Given the description of an element on the screen output the (x, y) to click on. 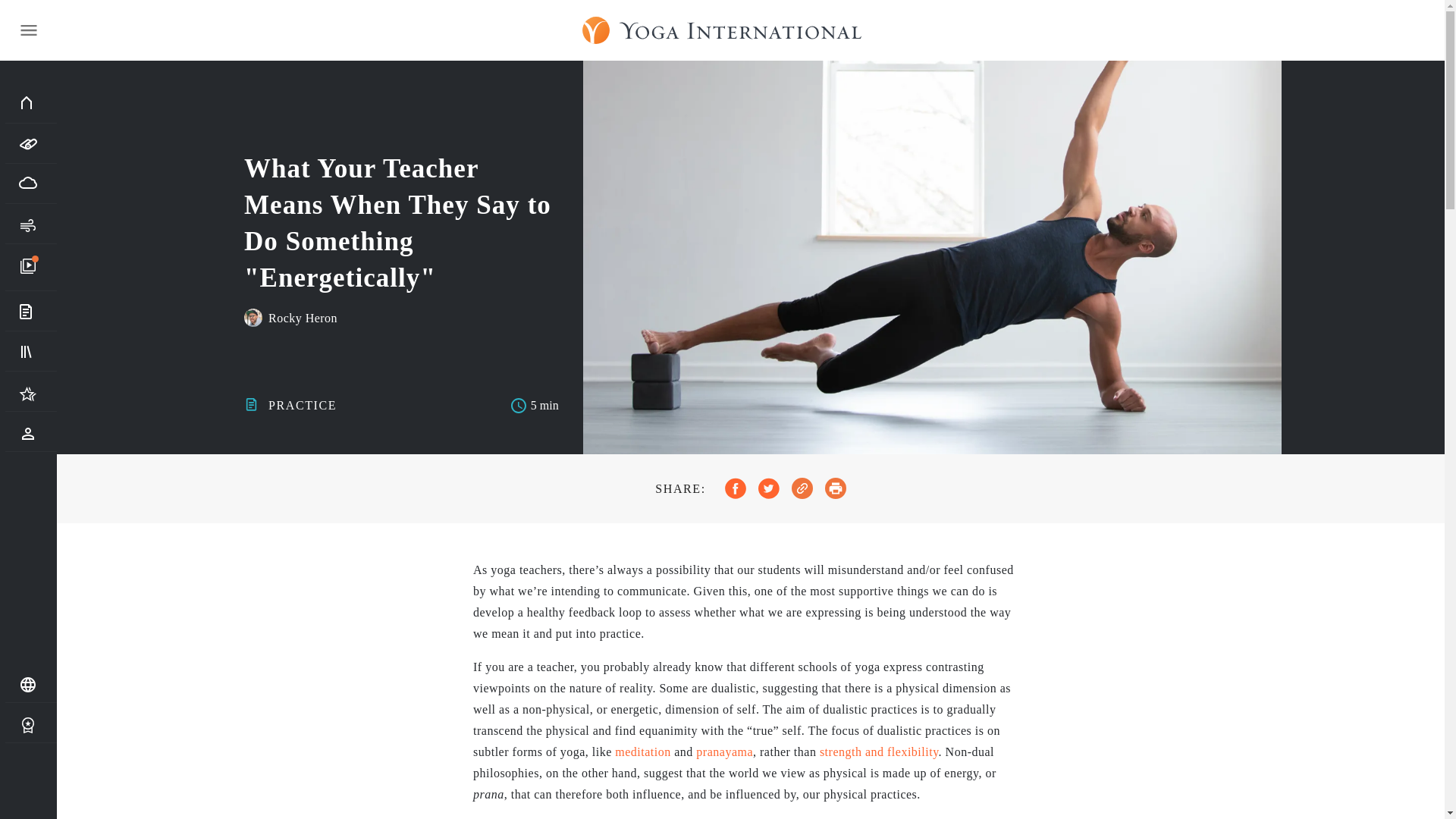
5 min (534, 405)
strength and flexibility (879, 751)
pranayama (723, 751)
Rocky Heron (302, 318)
meditation (641, 751)
PRACTICE (301, 404)
